Given the description of an element on the screen output the (x, y) to click on. 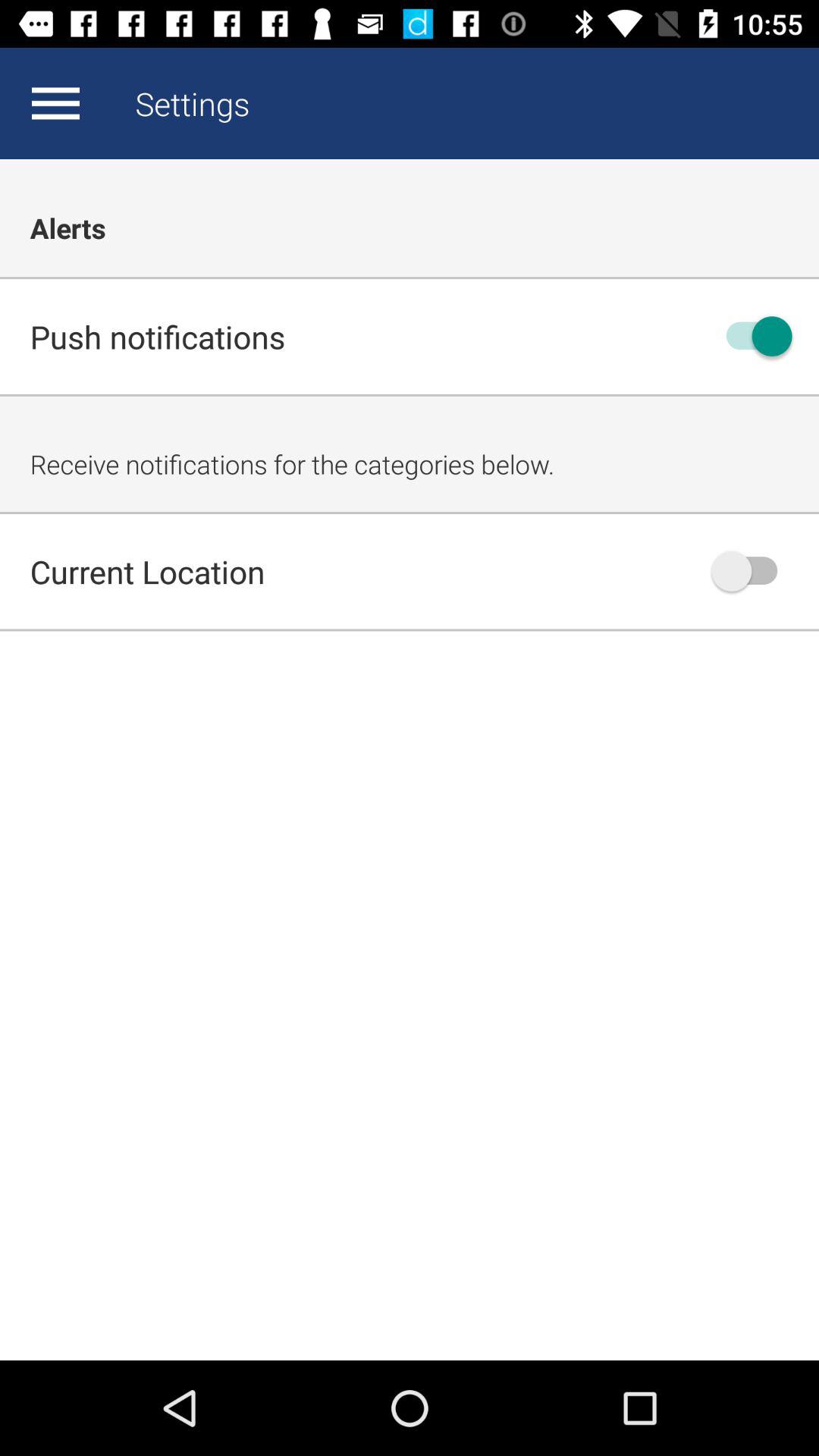
press icon at the top left corner (55, 103)
